Given the description of an element on the screen output the (x, y) to click on. 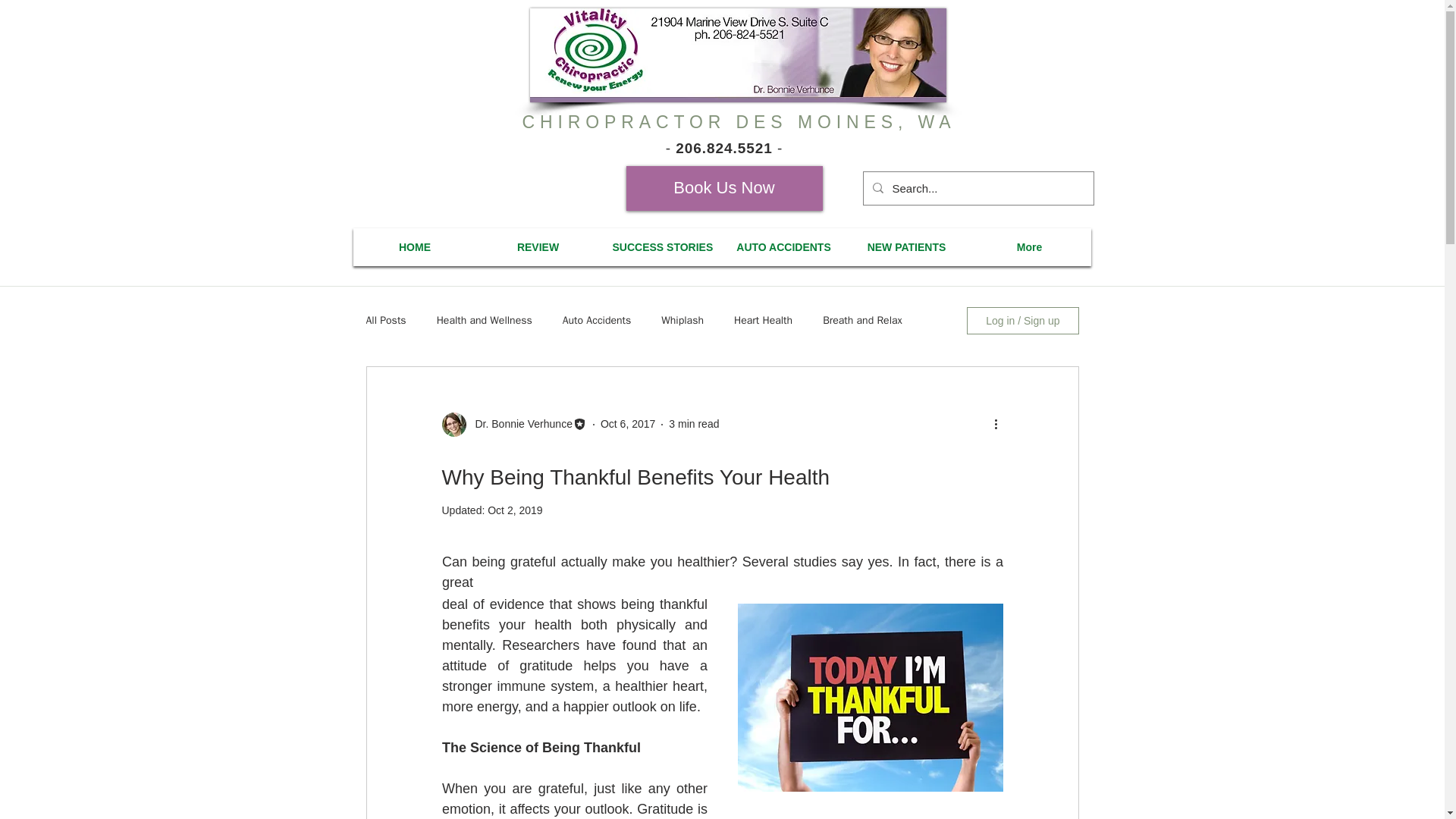
Dr. Bonnie Verhunce (518, 424)
AUTO ACCIDENTS (783, 246)
3 min read (693, 423)
Breath and Relax (862, 320)
Health and Wellness (484, 320)
HOME (415, 246)
All Posts (385, 320)
Oct 6, 2017 (627, 423)
- 206.824.5521 - (724, 148)
Oct 2, 2019 (514, 510)
